Given the description of an element on the screen output the (x, y) to click on. 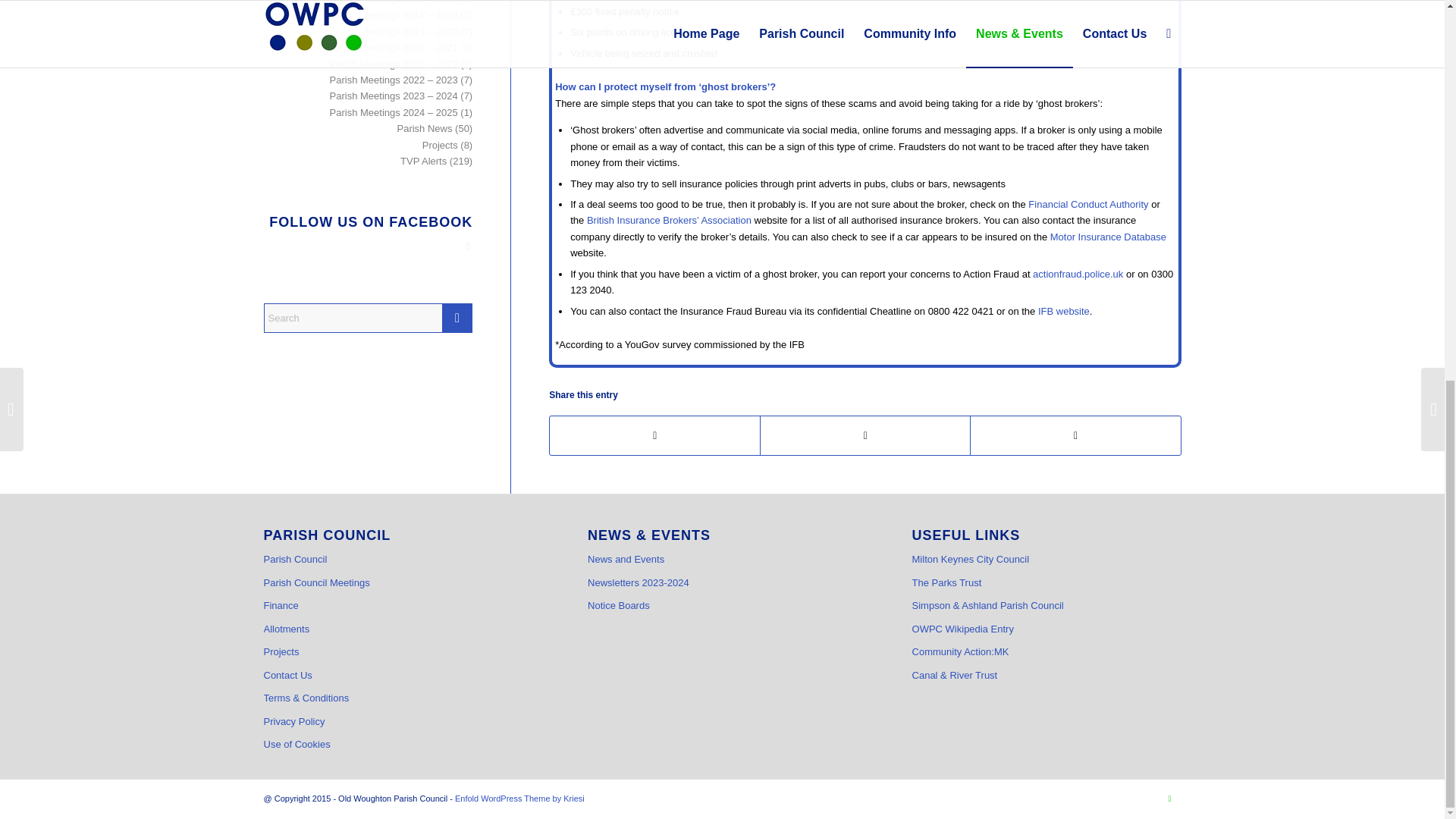
Motor Insurance Database (1107, 236)
actionfraud.police.uk (1077, 274)
Financial Conduct Authority (1087, 204)
Facebook (1169, 798)
IFB website (1063, 310)
Click to start search (456, 317)
